Given the description of an element on the screen output the (x, y) to click on. 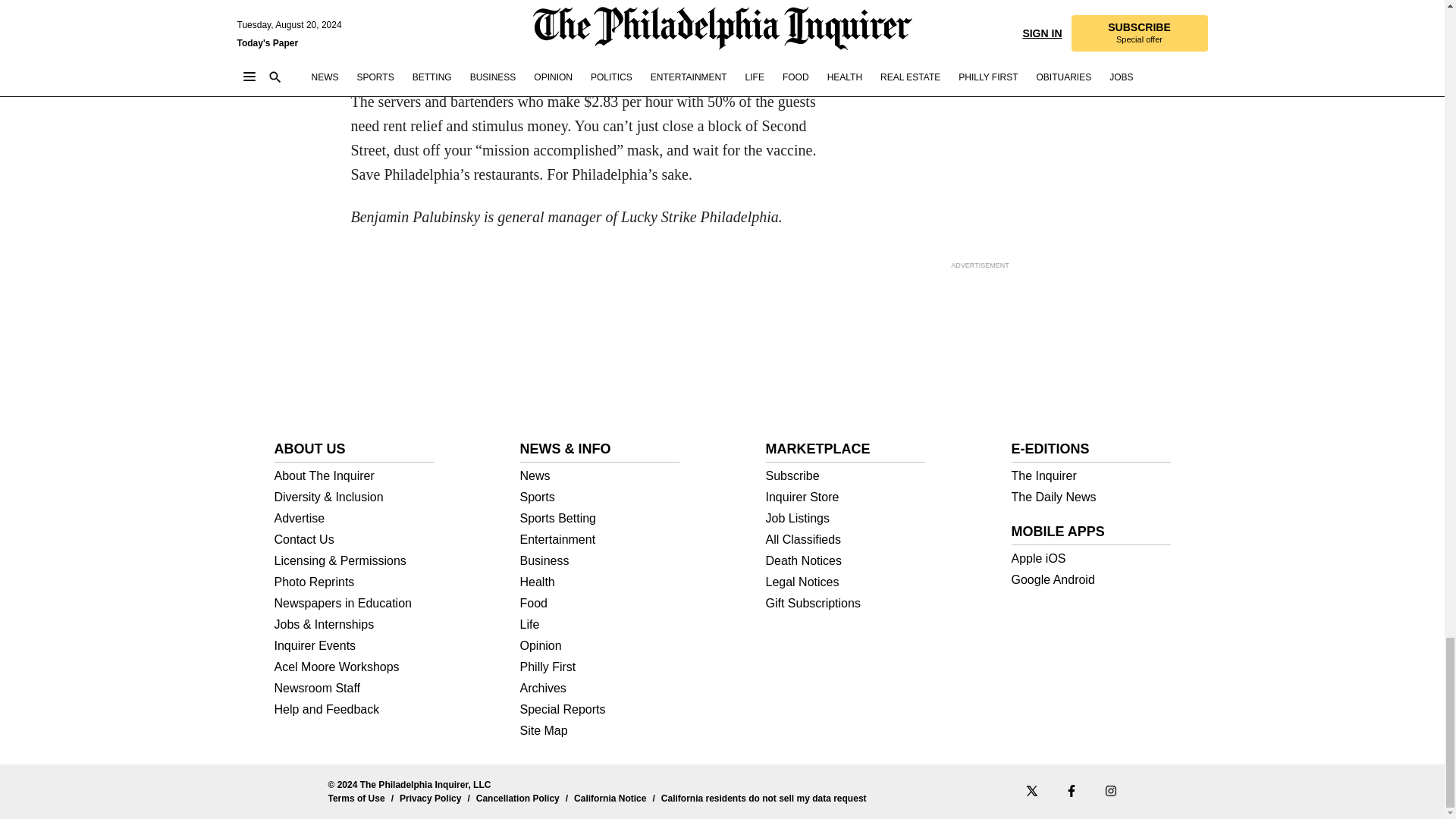
Instagram (1109, 790)
Facebook (1070, 790)
X (1030, 790)
